Given the description of an element on the screen output the (x, y) to click on. 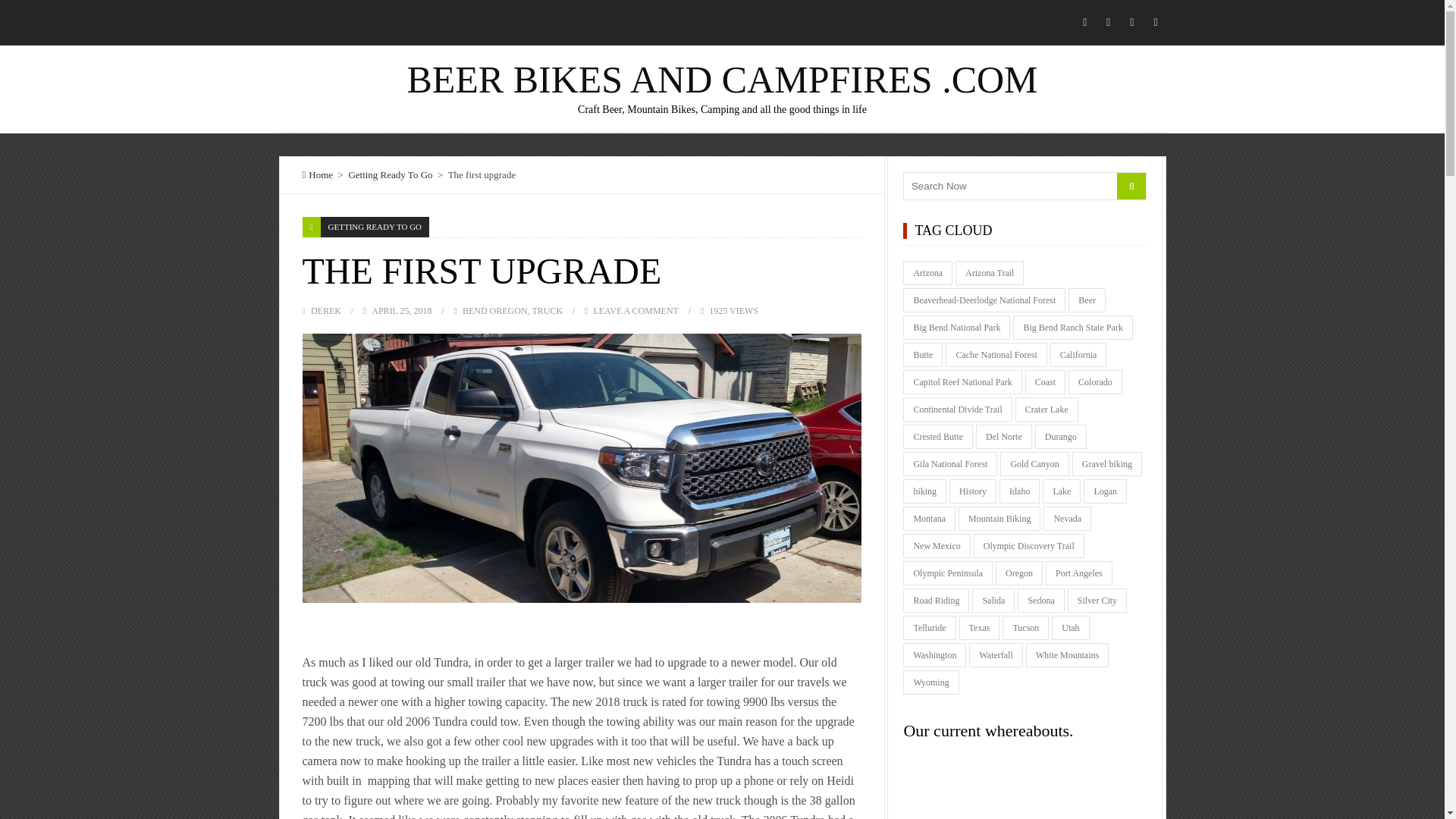
BEND OREGON (495, 310)
Map (1024, 797)
LEAVE A COMMENT (635, 310)
Butte (922, 354)
Colorado (1095, 381)
Cache National Forest (995, 354)
Arizona (927, 273)
California (1077, 354)
Arizona Trail (989, 273)
Big Bend National Park (956, 327)
GETTING READY TO GO (374, 227)
Beaverhead-Deerlodge National Forest (983, 300)
Coast (1045, 381)
Big Bend Ranch State Park (1072, 327)
Posts by Derek (325, 310)
